Given the description of an element on the screen output the (x, y) to click on. 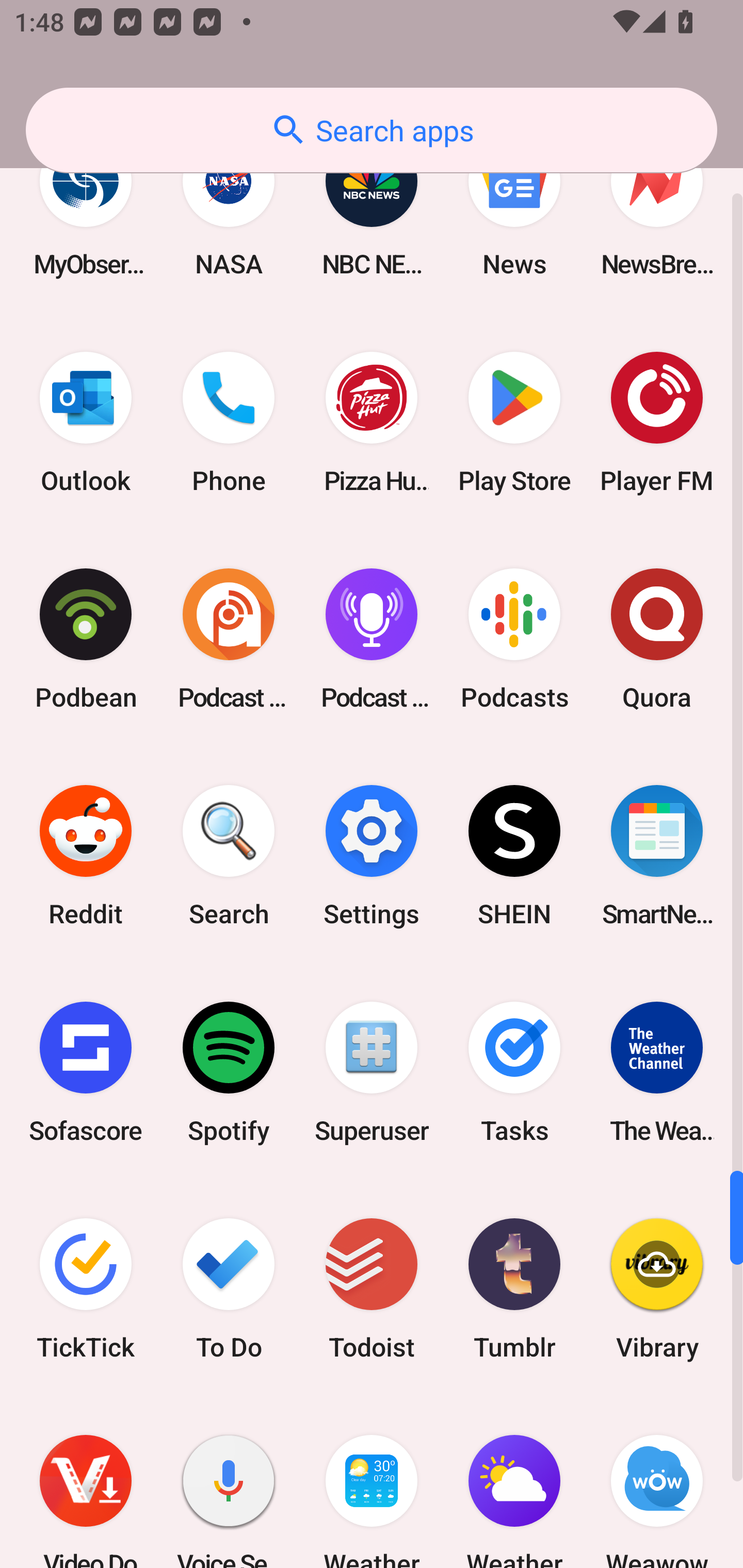
  Search apps (371, 130)
MyObservatory (85, 208)
NASA (228, 208)
NBC NEWS (371, 208)
News (514, 208)
NewsBreak (656, 208)
Outlook (85, 421)
Phone (228, 421)
Pizza Hut HK & Macau (371, 421)
Play Store (514, 421)
Player FM (656, 421)
Podbean (85, 638)
Podcast Addict (228, 638)
Podcast Player (371, 638)
Podcasts (514, 638)
Quora (656, 638)
Reddit (85, 855)
Search (228, 855)
Settings (371, 855)
SHEIN (514, 855)
SmartNews (656, 855)
Sofascore (85, 1072)
Spotify (228, 1072)
Superuser (371, 1072)
Tasks (514, 1072)
The Weather Channel (656, 1072)
TickTick (85, 1288)
To Do (228, 1288)
Todoist (371, 1288)
Tumblr (514, 1288)
Vibrary (656, 1288)
Video Downloader & Ace Player (85, 1482)
Voice Search (228, 1482)
Weather (371, 1482)
Weather (514, 1482)
Weawow (656, 1482)
